Given the description of an element on the screen output the (x, y) to click on. 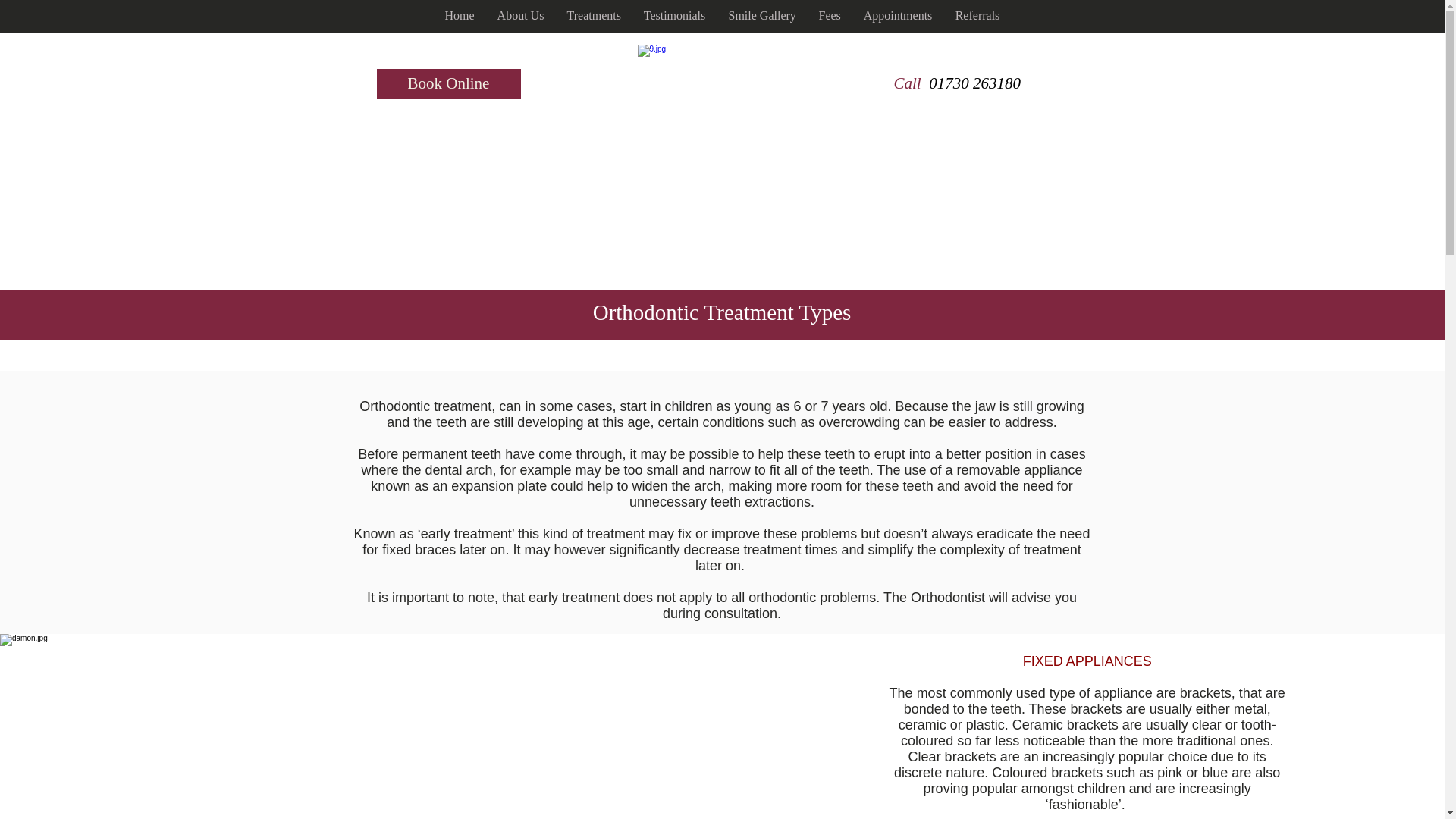
Book Online (447, 83)
Home (459, 16)
Testimonials (674, 16)
Smile Gallery (762, 16)
About Us (519, 16)
Treatments (592, 16)
Referrals (976, 16)
Appointments (897, 16)
01730 263180 (974, 83)
Fees (828, 16)
